Given the description of an element on the screen output the (x, y) to click on. 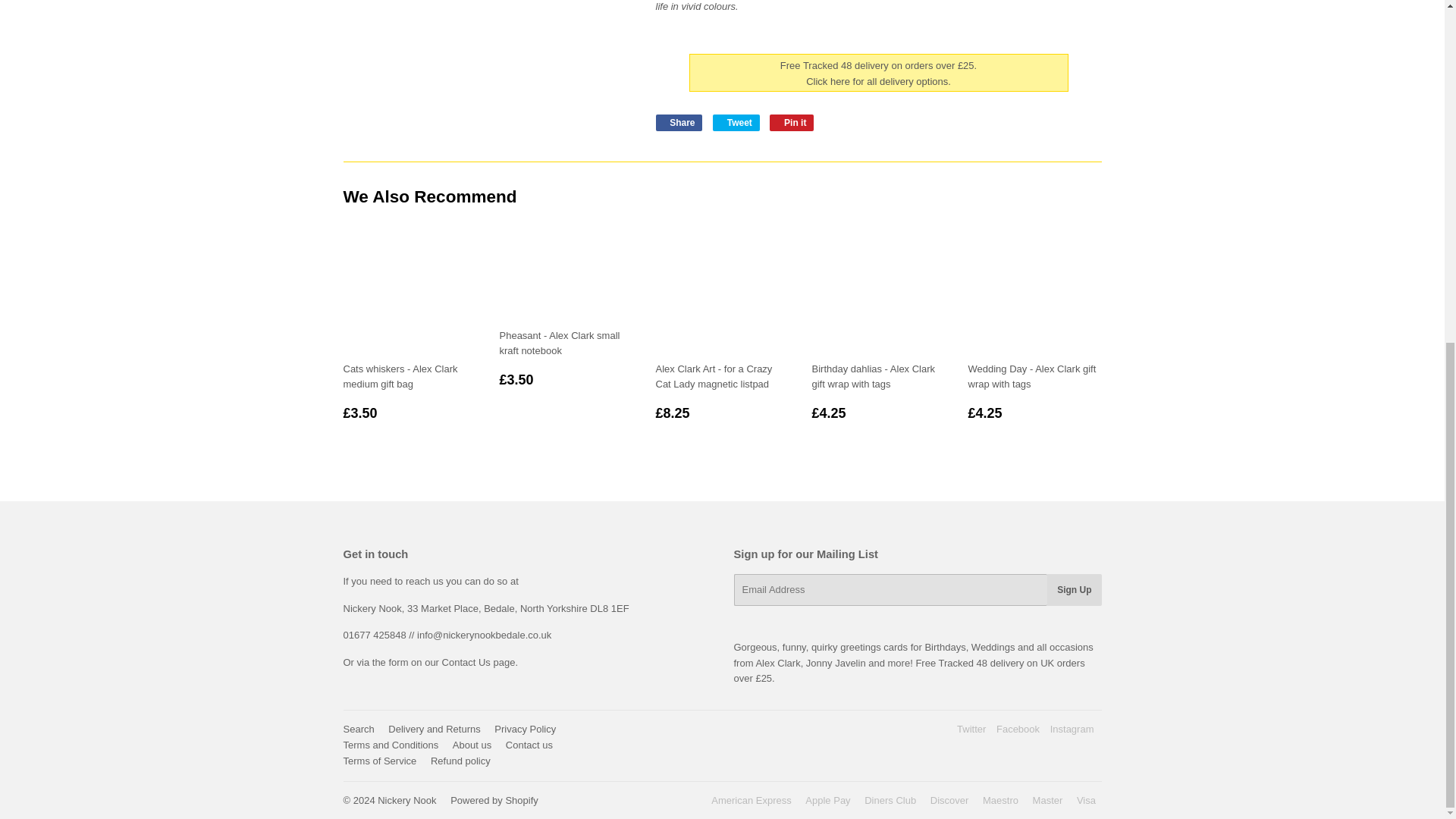
Tweet on Twitter (736, 122)
Share on Facebook (678, 122)
Pin on Pinterest (791, 122)
Nickery Nook on Instagram (1071, 728)
Contact us (478, 662)
Nickery Nook on Facebook (1017, 728)
Nickery Nook on Twitter (970, 728)
